Given the description of an element on the screen output the (x, y) to click on. 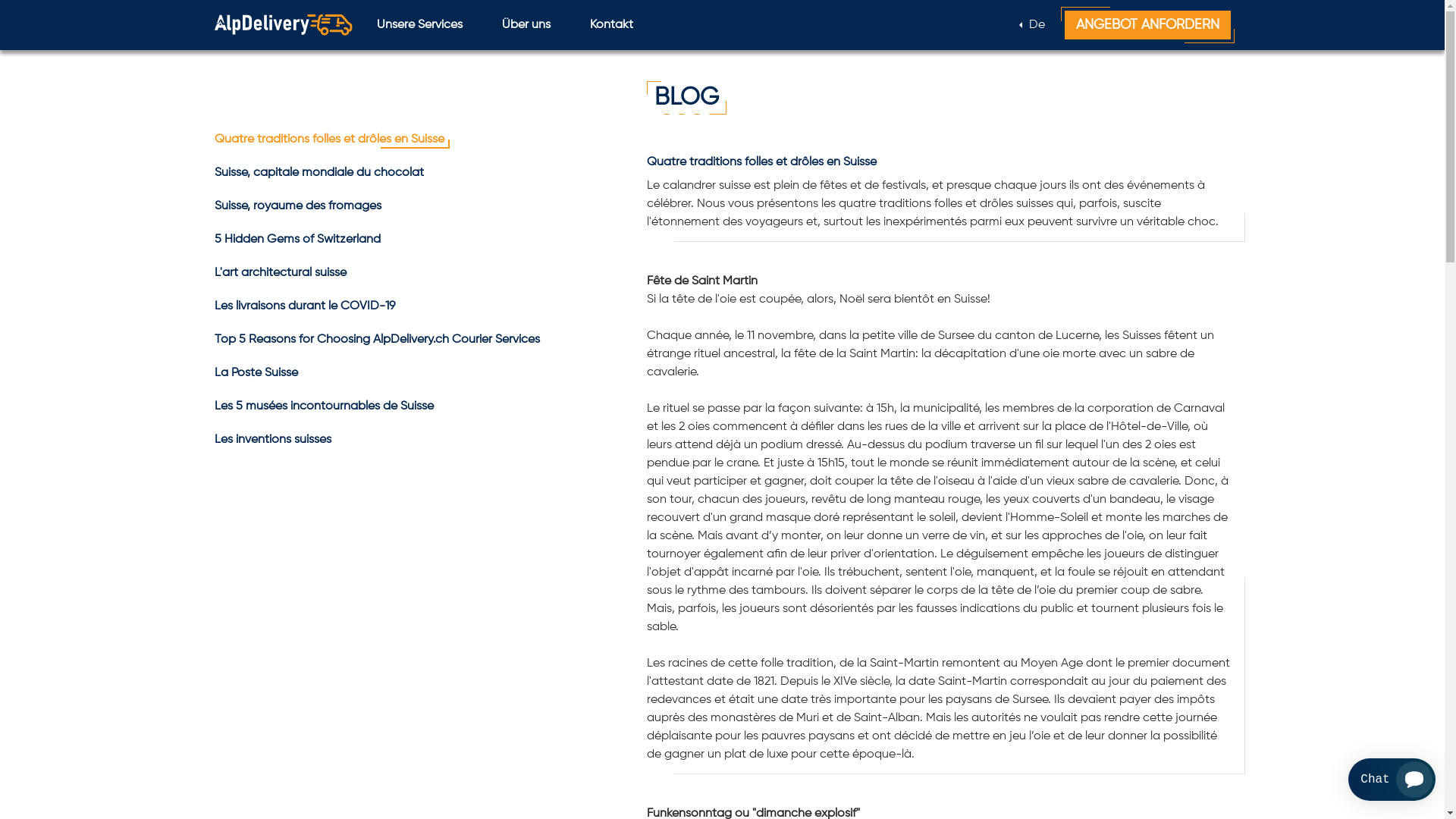
Smartsupp widget button Element type: hover (1391, 779)
5 Hidden Gems of Switzerland Element type: text (296, 239)
Les livraisons durant le COVID-19 Element type: text (303, 306)
De Element type: text (1031, 24)
Suisse, capitale mondiale du chocolat Element type: text (318, 172)
Top 5 Reasons for Choosing AlpDelivery.ch Courier Services Element type: text (376, 339)
Suisse, royaume des fromages Element type: text (296, 206)
ANGEBOT ANFORDERN Element type: text (1147, 24)
Unsere Services Element type: text (418, 24)
L'art architectural suisse Element type: text (279, 272)
La Poste Suisse Element type: text (255, 373)
Kontakt Element type: text (611, 24)
Les inventions suisses Element type: text (271, 439)
